Given the description of an element on the screen output the (x, y) to click on. 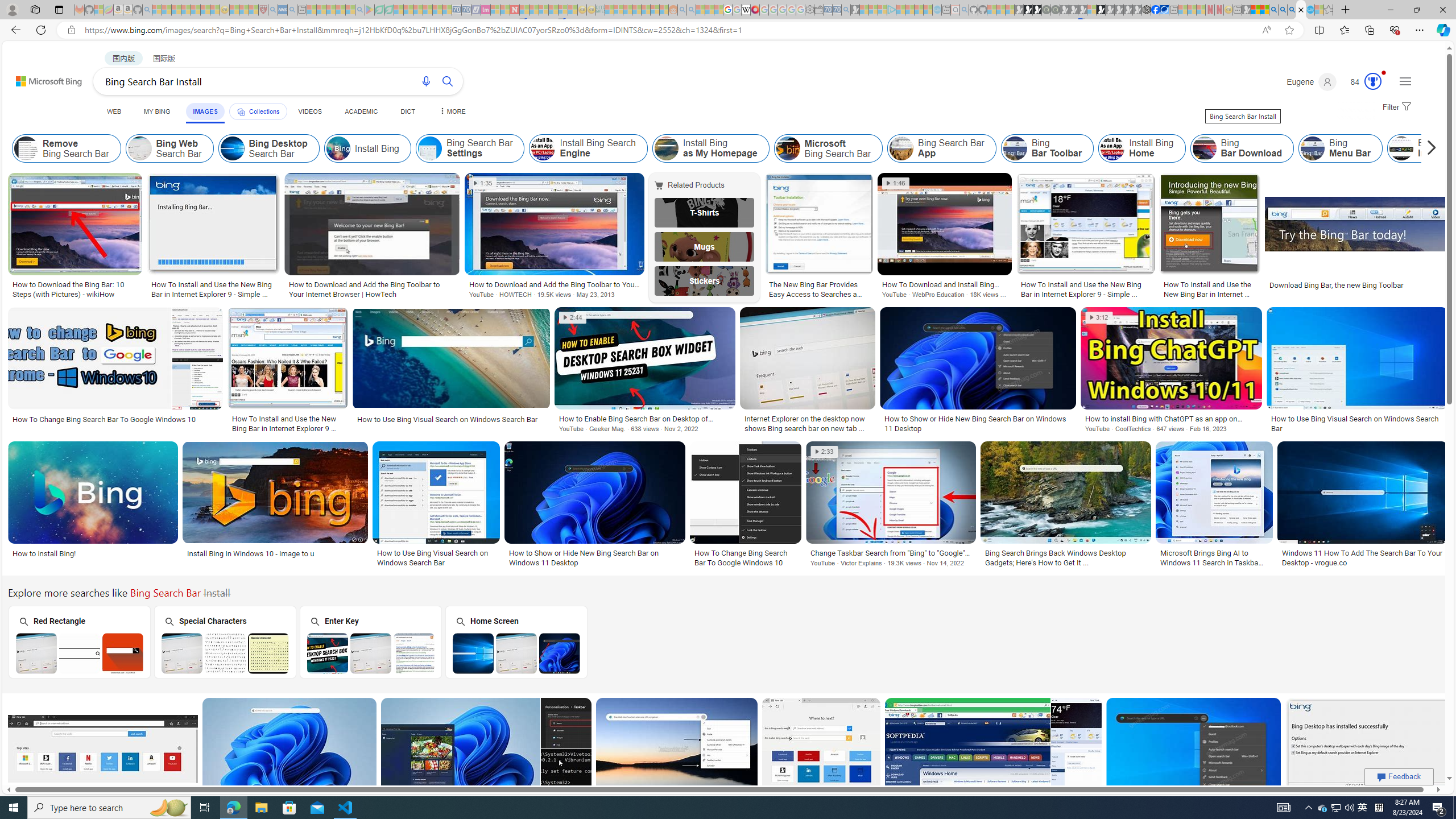
How To Change Bing Search Bar To Google Windows 10 (745, 557)
How to Use Bing Visual Search on Windows Search BarSave (437, 505)
Nordace | Facebook (1154, 9)
1:35 (482, 183)
The Weather Channel - MSN - Sleeping (175, 9)
Bing Bar Download (1242, 148)
